Given the description of an element on the screen output the (x, y) to click on. 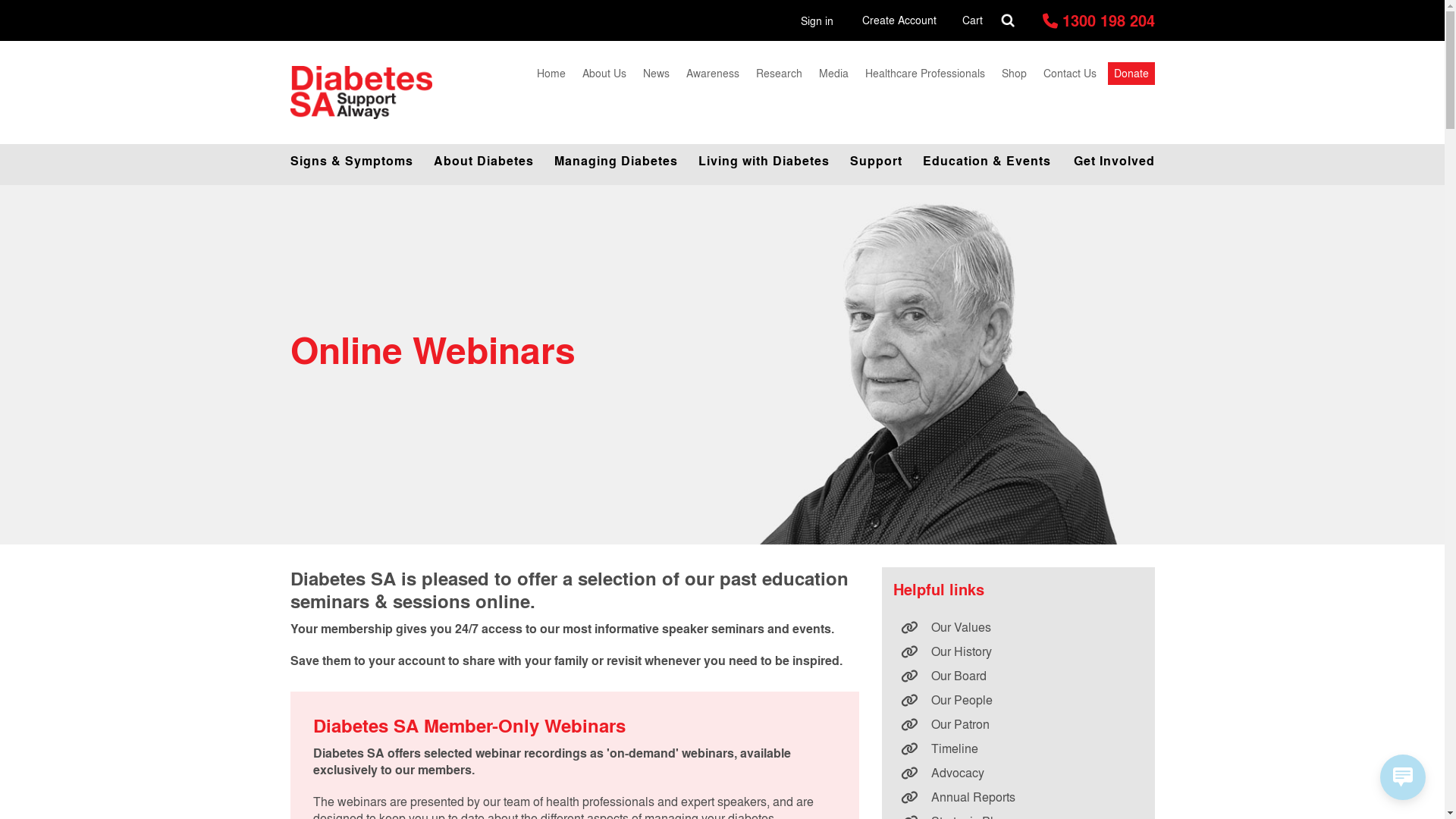
Living with Diabetes Element type: text (762, 161)
Advocacy Element type: text (1018, 772)
1300 198 204 Element type: text (1097, 20)
Signs & Symptoms Element type: text (355, 161)
Contact Us Element type: text (1069, 72)
Donate Element type: text (1130, 73)
Sign in Element type: text (816, 20)
Annual Reports Element type: text (1018, 796)
Awareness Element type: text (712, 72)
Create Account Element type: text (899, 19)
Our People Element type: text (1018, 699)
Managing Diabetes Element type: text (614, 161)
Education & Events Element type: text (985, 161)
Media Element type: text (832, 72)
Shop Element type: text (1014, 72)
Support Element type: text (874, 161)
Home Element type: text (550, 72)
About Us Element type: text (603, 72)
iMIS Element type: text (361, 92)
Healthcare Professionals Element type: text (925, 72)
About Diabetes Element type: text (481, 161)
Cart Element type: text (971, 20)
Our Values Element type: text (1018, 627)
Our Patron Element type: text (1018, 724)
Our Board Element type: text (1018, 675)
Go Element type: text (27, 15)
Timeline Element type: text (1018, 748)
Get Involved Element type: text (1107, 161)
News Element type: text (655, 72)
Research Element type: text (779, 72)
Our History Element type: text (1018, 651)
